Given the description of an element on the screen output the (x, y) to click on. 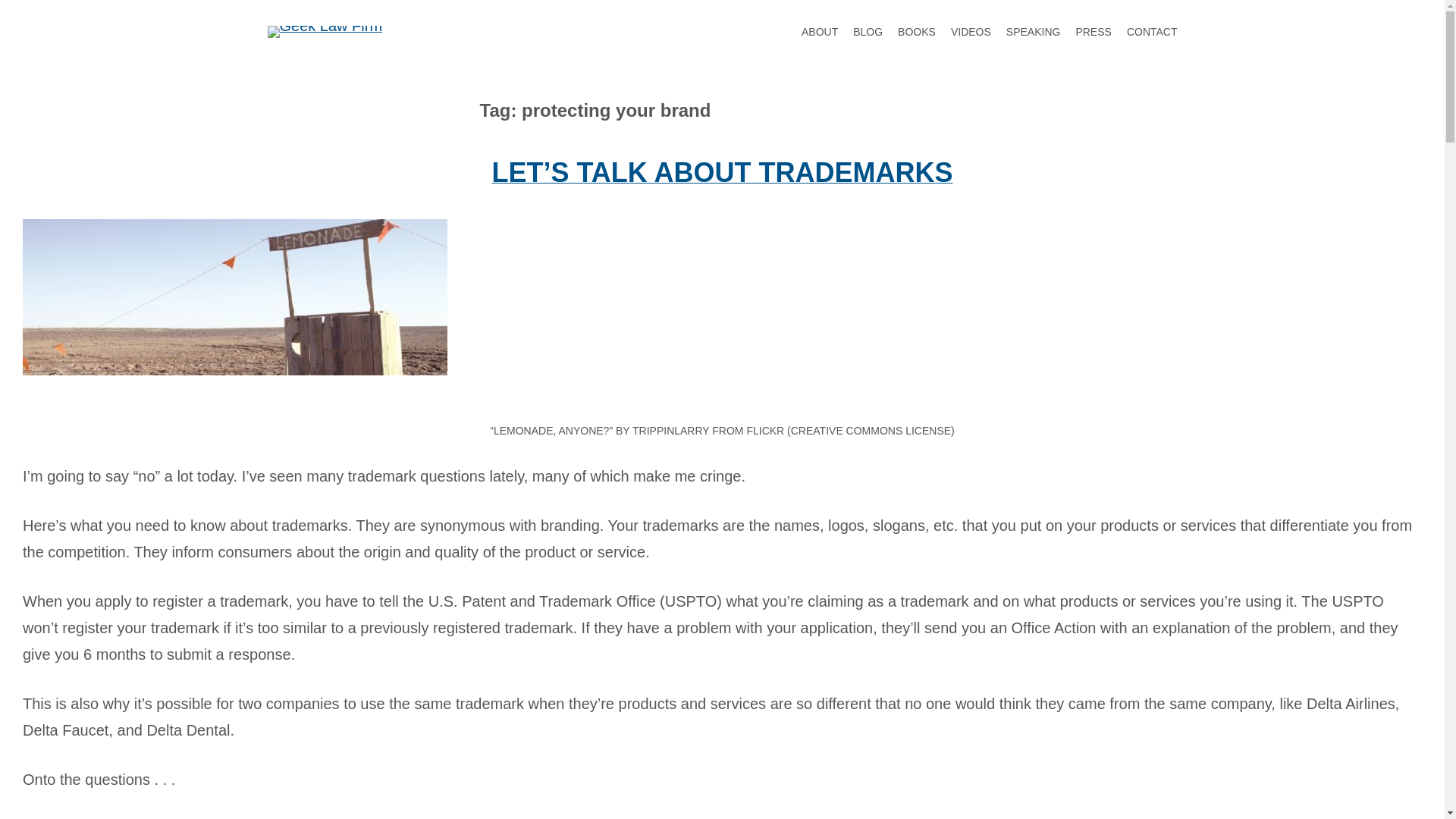
BLOG (867, 31)
SPEAKING (1033, 31)
BOOKS (917, 31)
ABOUT (820, 31)
VIDEOS (970, 31)
CONTACT (1151, 31)
PRESS (1092, 31)
